Given the description of an element on the screen output the (x, y) to click on. 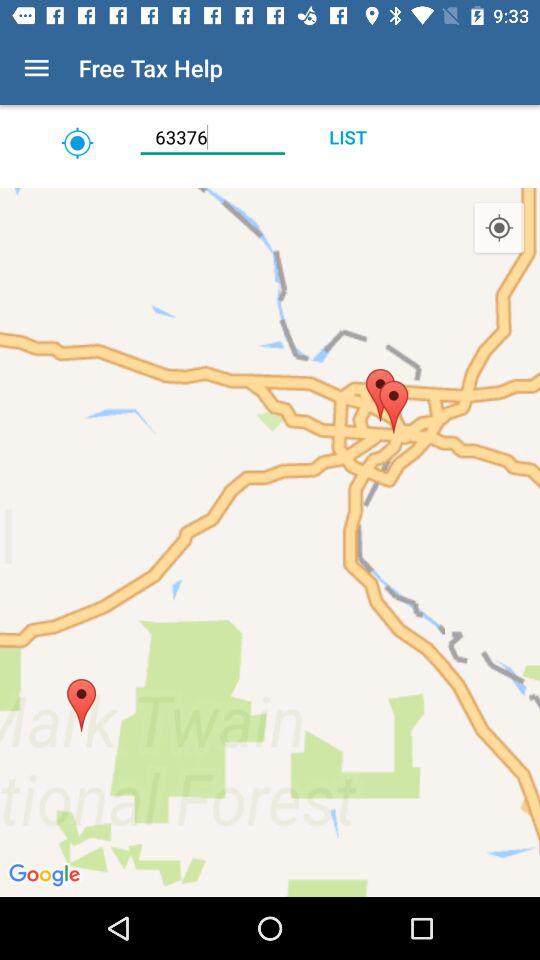
location (270, 180)
